Given the description of an element on the screen output the (x, y) to click on. 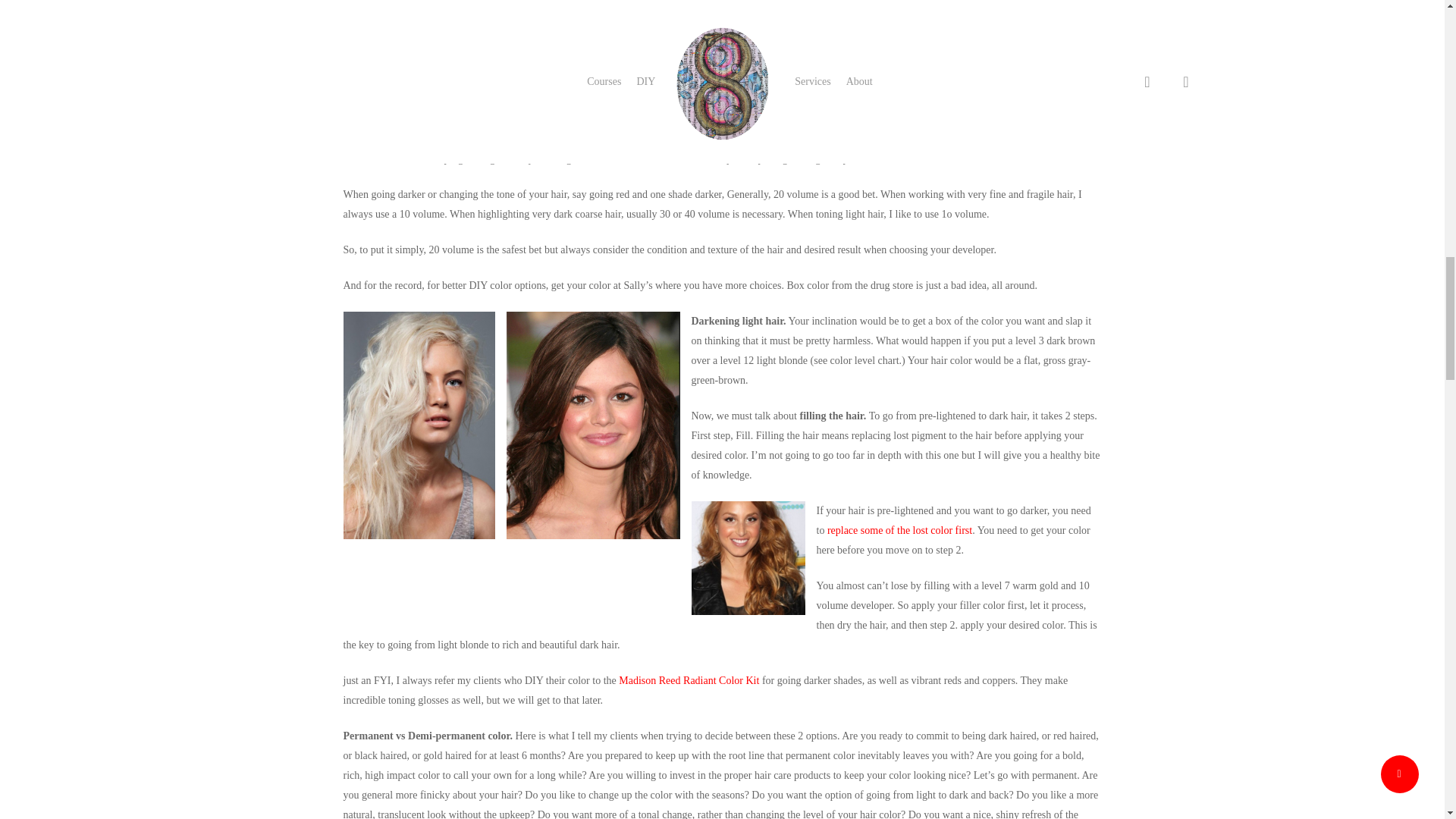
Madison Reed Radiant Color Kit (689, 680)
replace some of the lost color first (899, 530)
DIY hair color success! Blending dark roots to light ends. (899, 530)
